Given the description of an element on the screen output the (x, y) to click on. 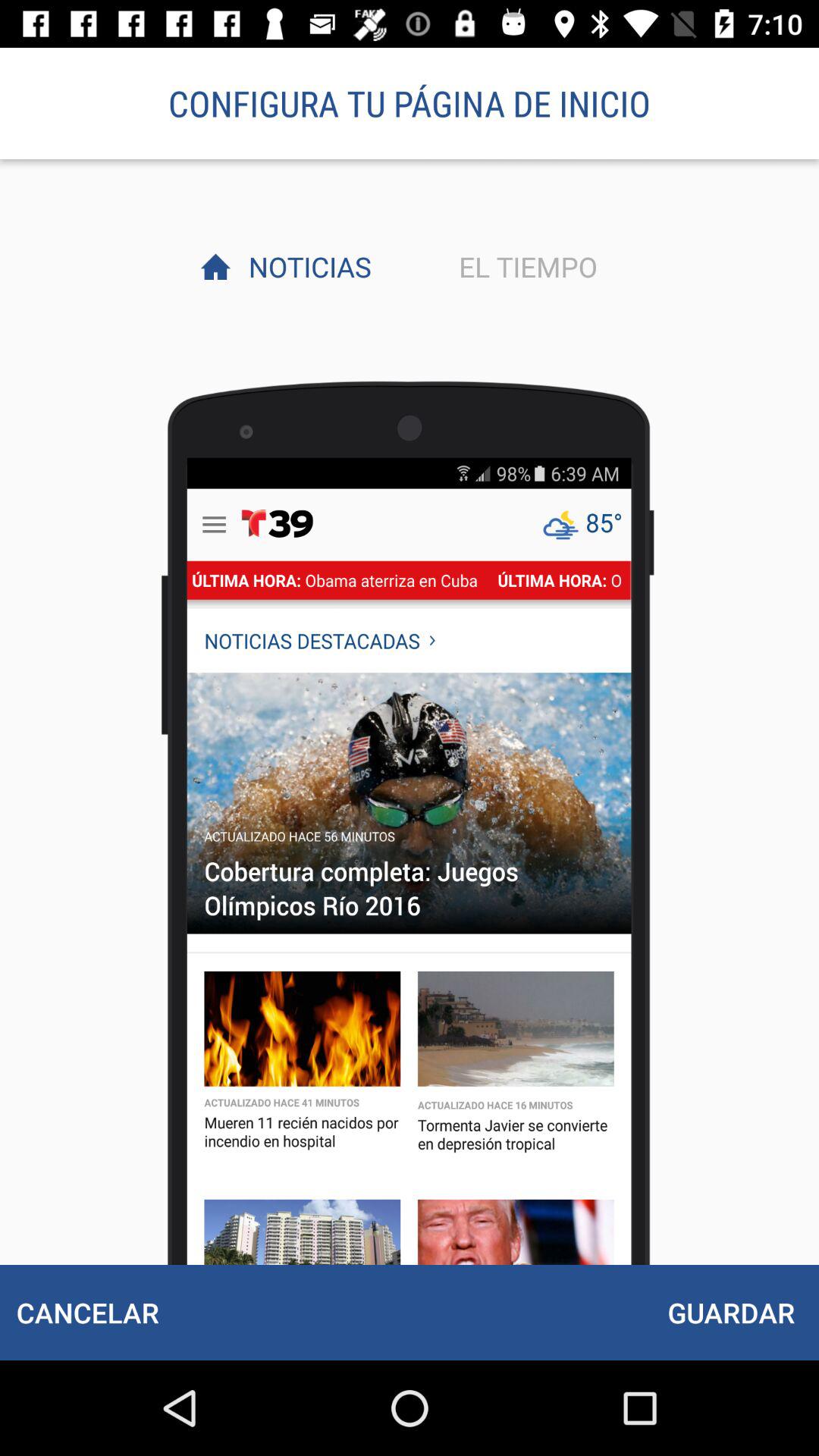
launch icon to the right of noticias (524, 266)
